Given the description of an element on the screen output the (x, y) to click on. 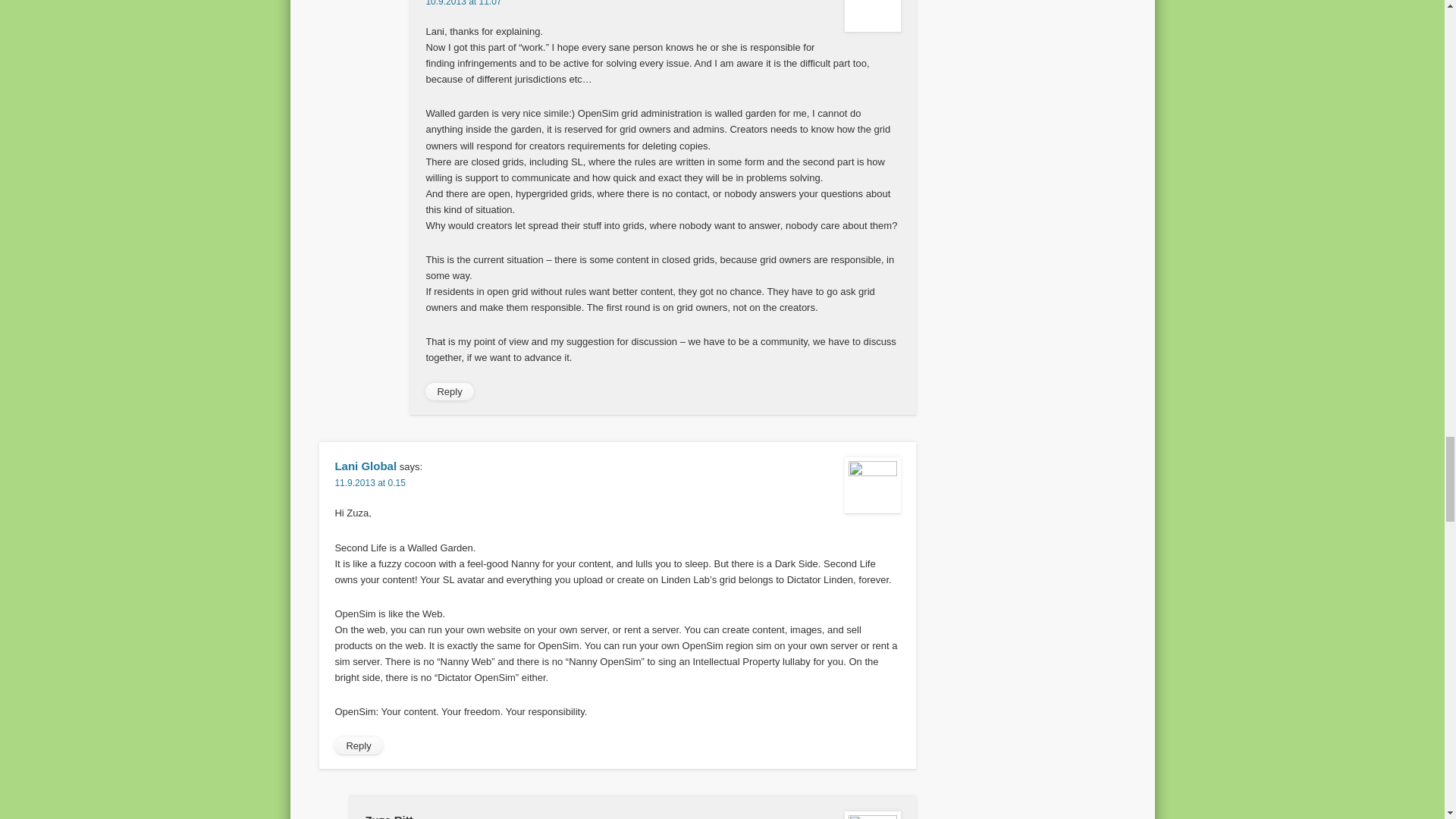
Lani Global (365, 465)
10.9.2013 at 11.07 (462, 3)
Reply (449, 392)
11.9.2013 at 0.15 (369, 482)
Reply (357, 746)
